Given the description of an element on the screen output the (x, y) to click on. 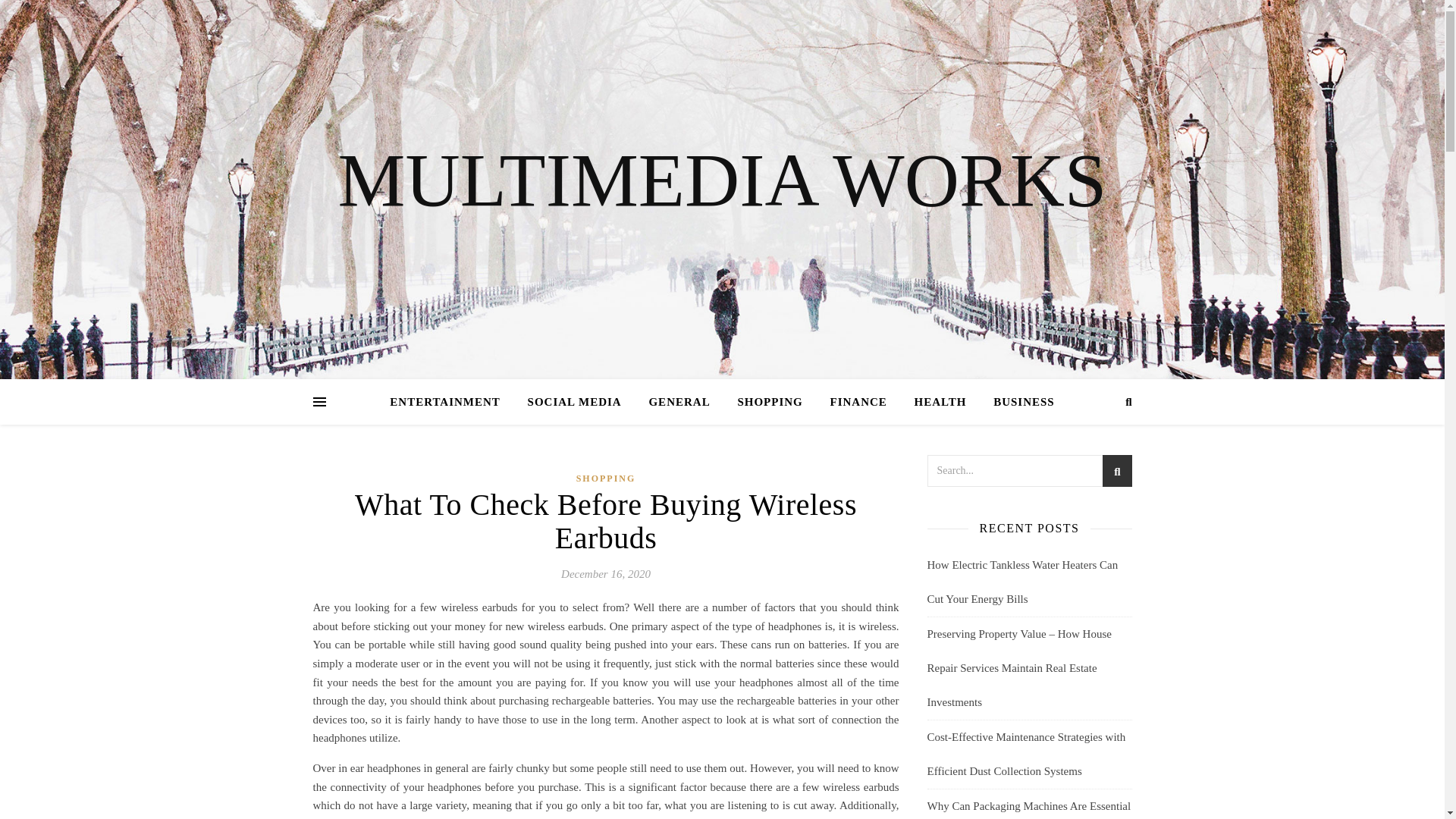
SHOPPING (606, 478)
FINANCE (857, 402)
SHOPPING (769, 402)
BUSINESS (1017, 402)
ENTERTAINMENT (451, 402)
HEALTH (940, 402)
st (1115, 473)
SOCIAL MEDIA (574, 402)
GENERAL (679, 402)
